Given the description of an element on the screen output the (x, y) to click on. 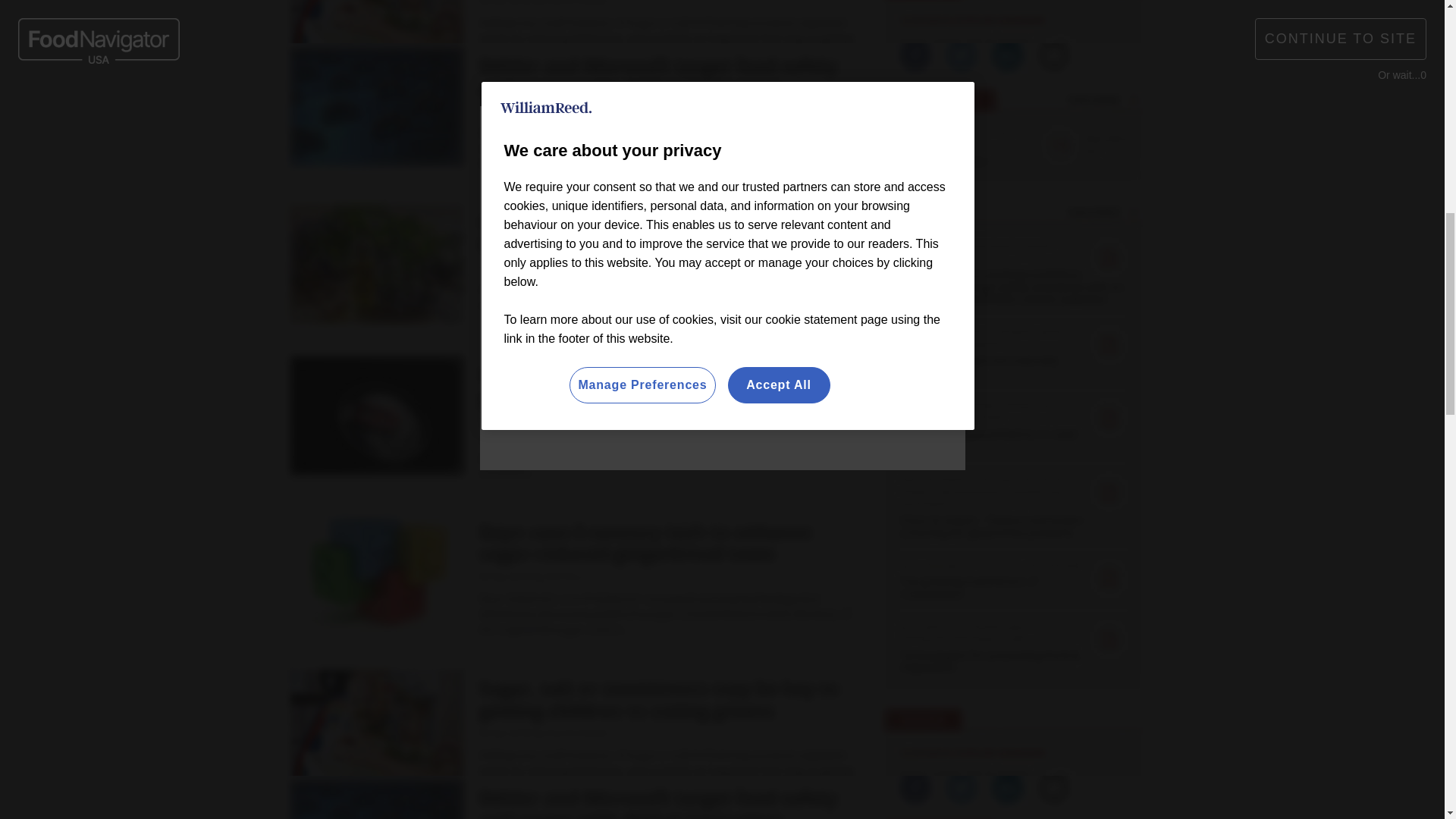
3rd party ad content (570, 379)
